Given the description of an element on the screen output the (x, y) to click on. 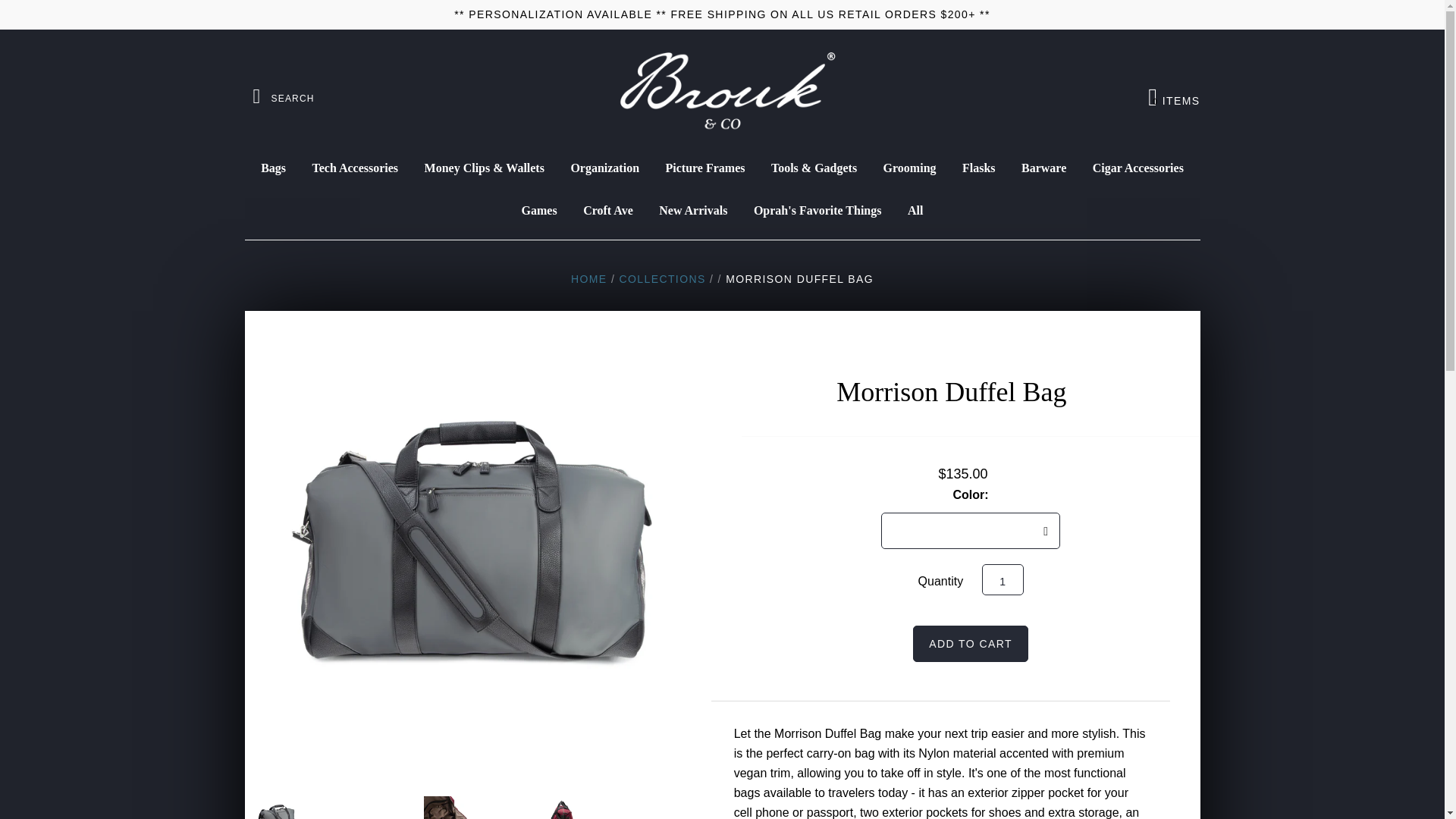
All (915, 210)
Grooming (909, 168)
Cigar Accessories (1138, 168)
Flasks (978, 168)
COLLECTIONS (1173, 97)
1 (661, 278)
Bags (1002, 579)
Add to cart (272, 168)
Oprah's Favorite Things (969, 643)
New Arrivals (817, 210)
Picture Frames (692, 210)
HOME (704, 168)
Organization (588, 278)
Tech Accessories (604, 168)
